Given the description of an element on the screen output the (x, y) to click on. 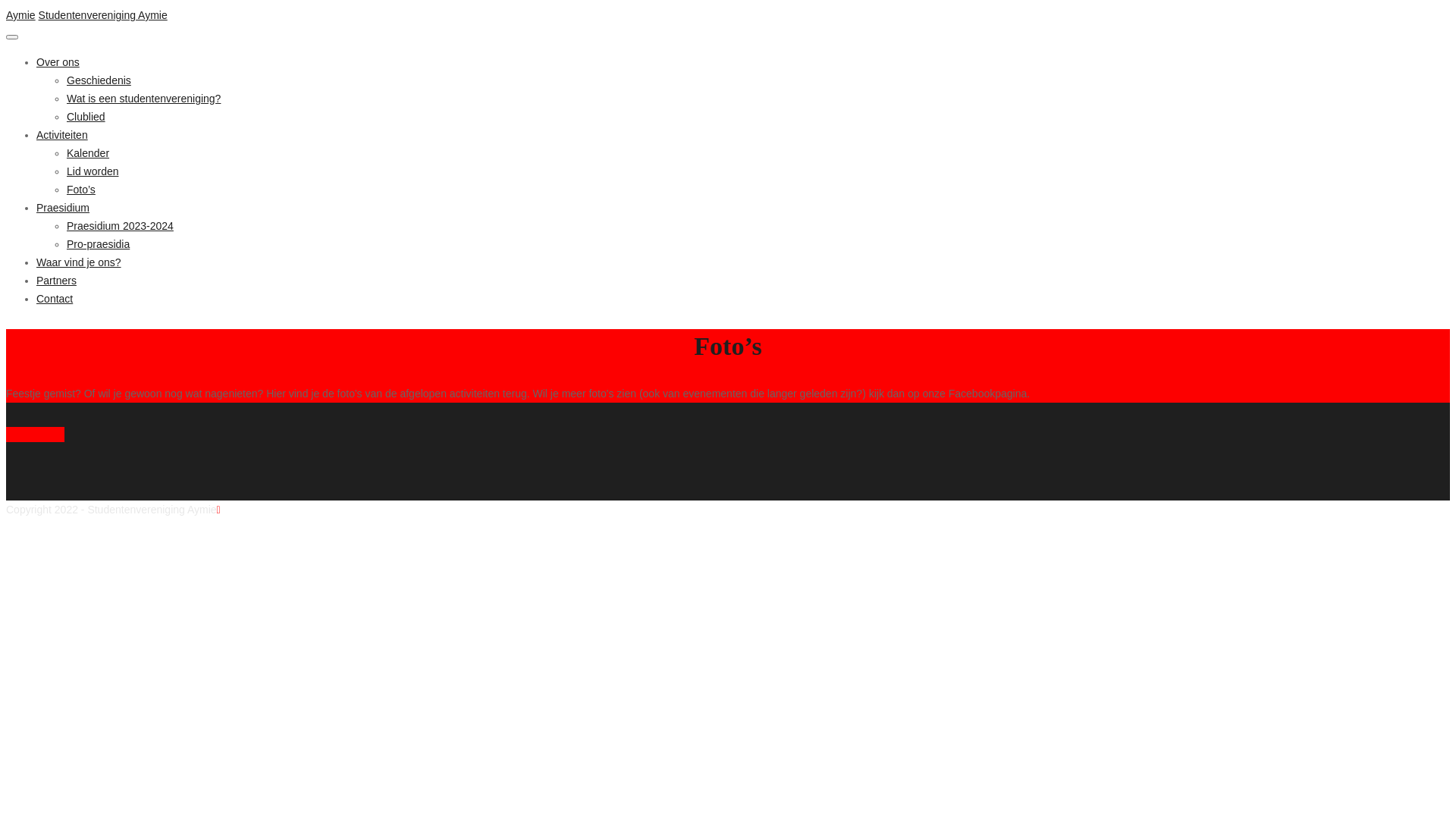
Contact Element type: text (54, 298)
Over ons Element type: text (57, 62)
Geschiedenis Element type: text (98, 80)
Aymie Element type: text (20, 15)
Partners Element type: text (56, 280)
Clublied Element type: text (85, 116)
Praesidium Element type: text (62, 207)
Pro-praesidia Element type: text (97, 244)
Praesidium 2023-2024 Element type: text (119, 225)
Activiteiten Element type: text (61, 134)
Waar vind je ons? Element type: text (78, 262)
Kalender Element type: text (87, 153)
Lid worden Element type: text (92, 171)
Wat is een studentenvereniging? Element type: text (143, 98)
Fotoalbums Element type: text (35, 434)
Studentenvereniging Aymie Element type: text (102, 15)
